Given the description of an element on the screen output the (x, y) to click on. 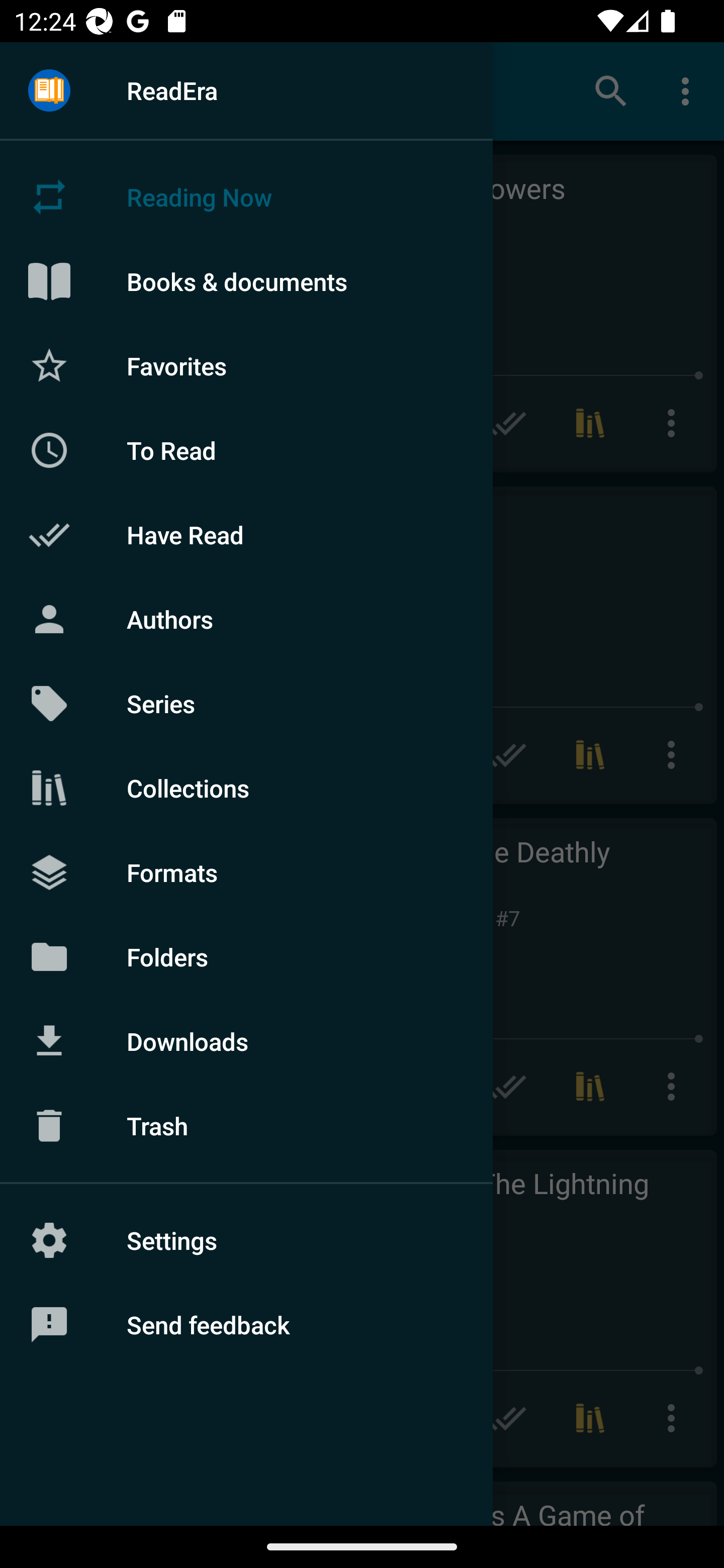
Menu (49, 91)
ReadEra (246, 89)
Search books & documents (611, 90)
More options (688, 90)
Reading Now (246, 197)
Books & documents (246, 281)
Favorites (246, 365)
To Read (246, 449)
Have Read (246, 534)
Authors (246, 619)
Series (246, 703)
Collections (246, 787)
Formats (246, 871)
Folders (246, 956)
Downloads (246, 1040)
Trash (246, 1125)
Settings (246, 1239)
Send feedback (246, 1324)
